Given the description of an element on the screen output the (x, y) to click on. 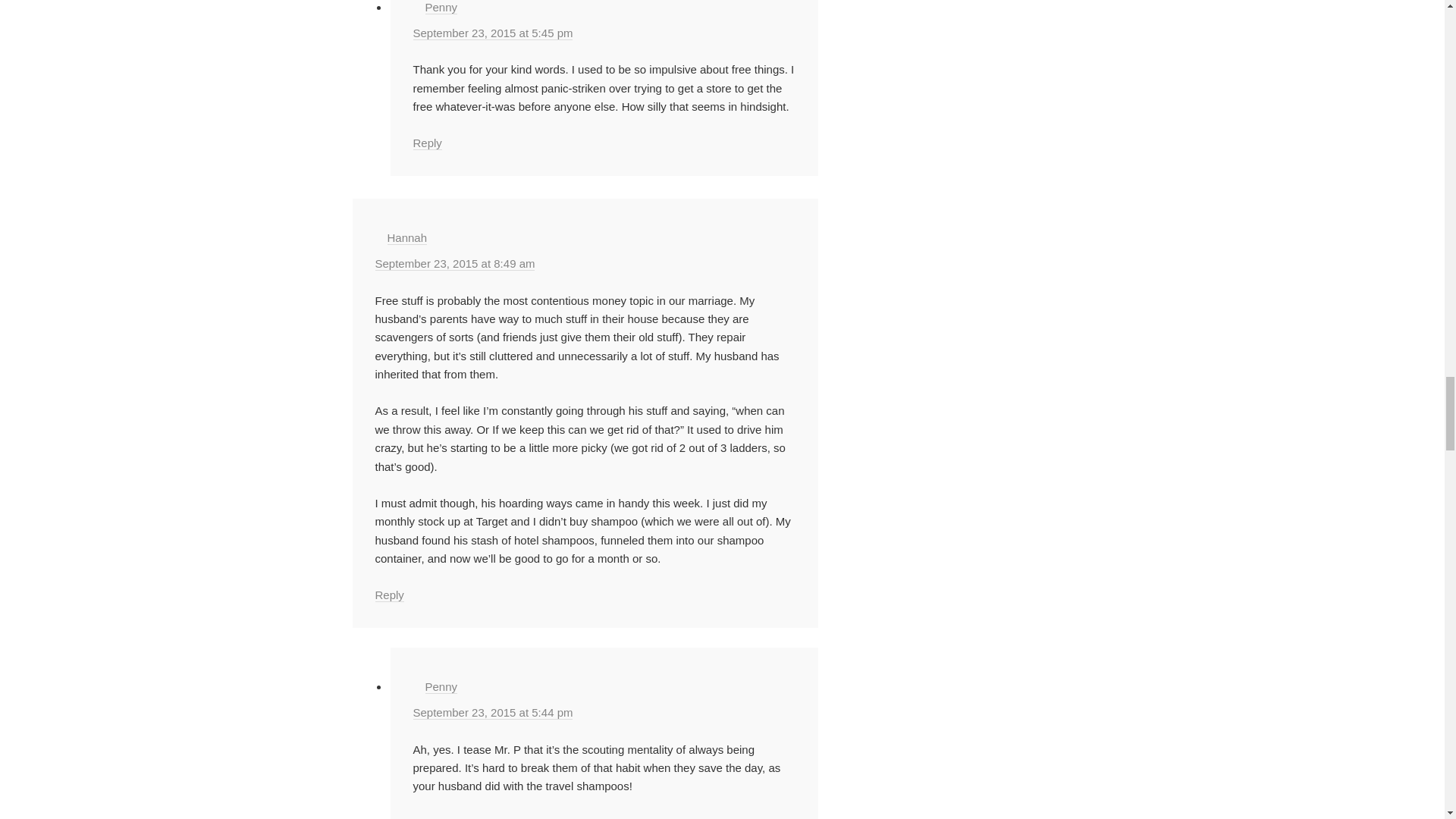
Wednesday, September 23, 2015, 5:45 pm (492, 33)
